Given the description of an element on the screen output the (x, y) to click on. 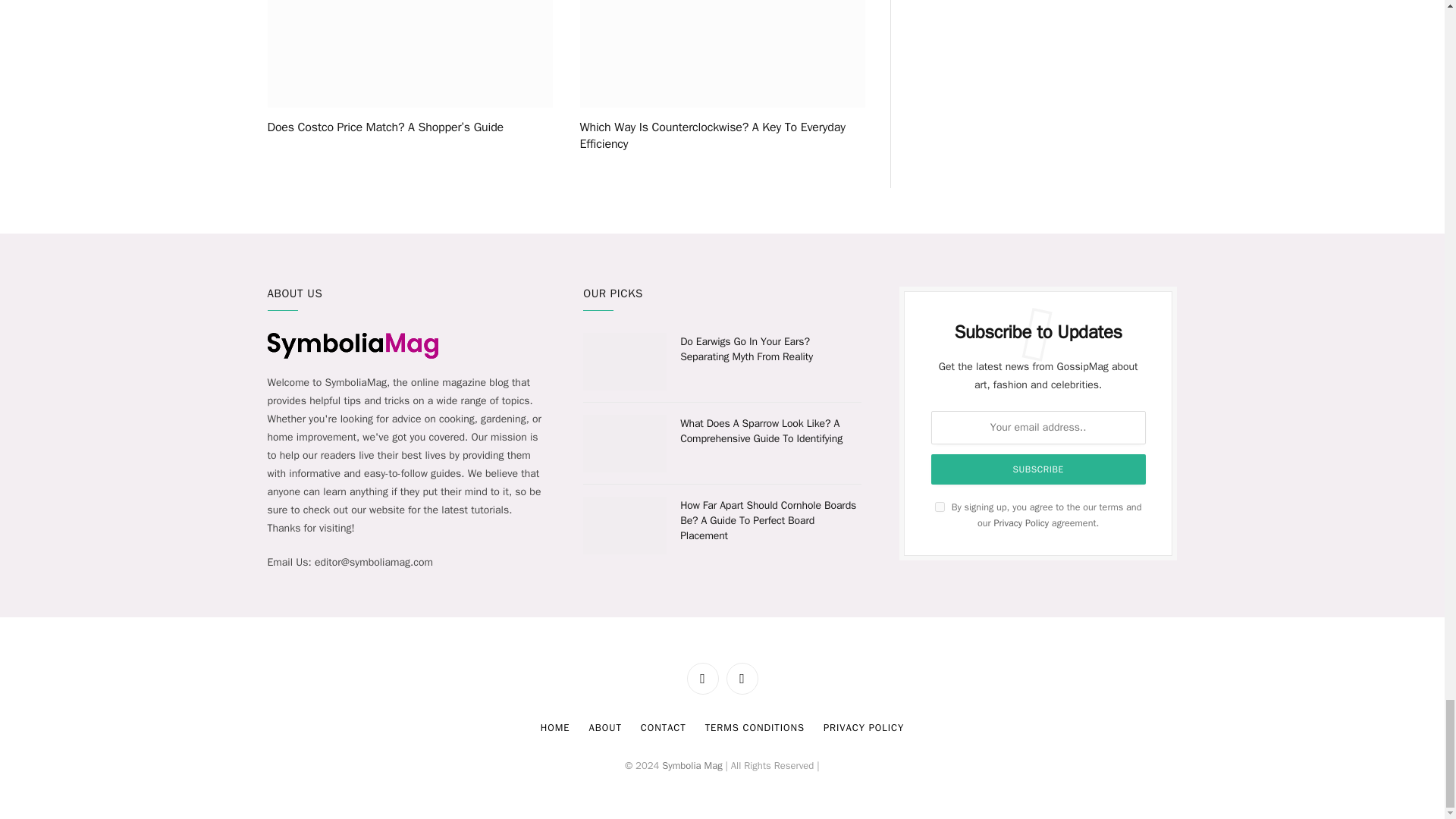
on (939, 506)
Subscribe (1038, 469)
